Given the description of an element on the screen output the (x, y) to click on. 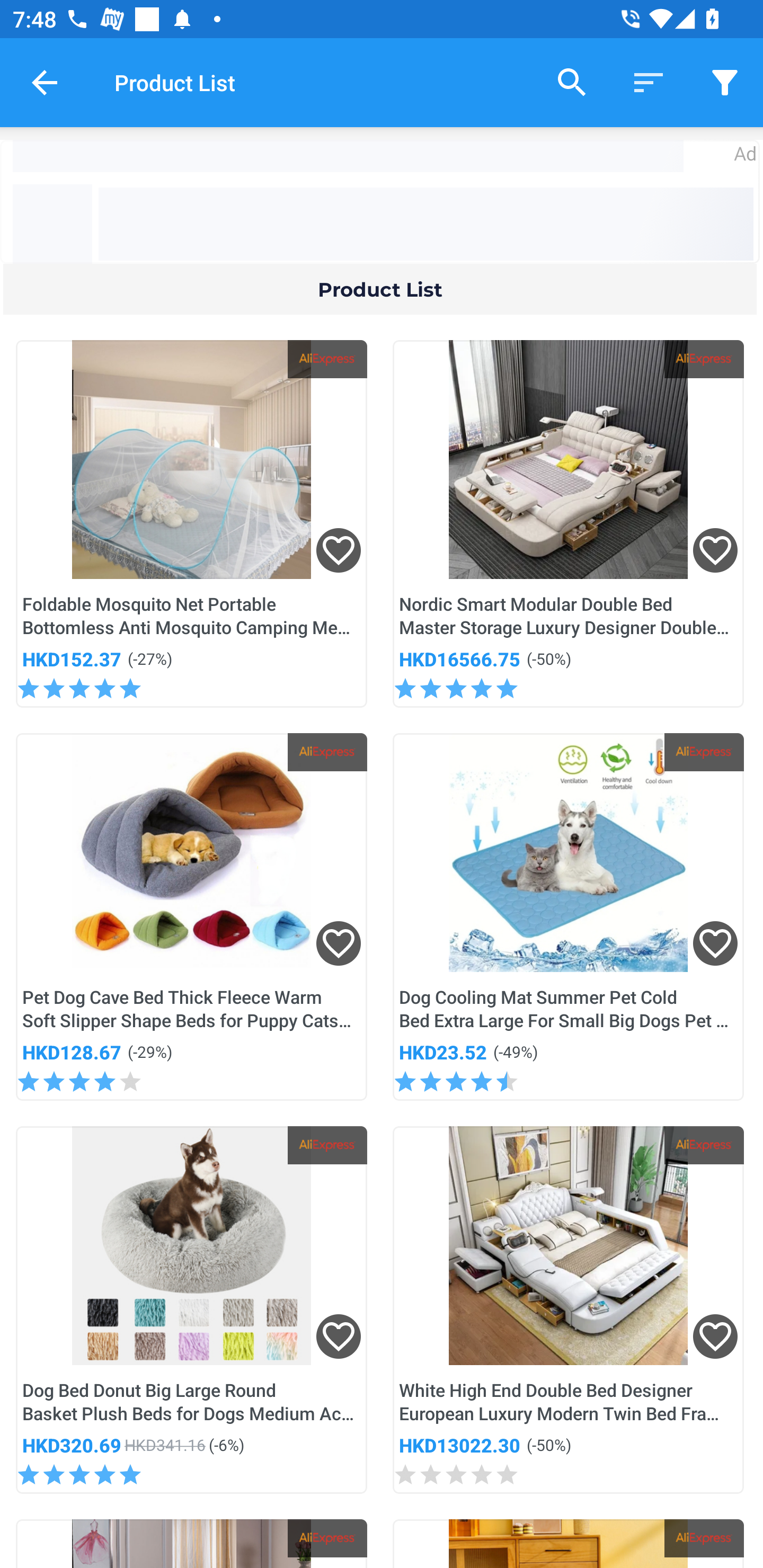
Navigate up (44, 82)
Search (572, 81)
short (648, 81)
short (724, 81)
